Given the description of an element on the screen output the (x, y) to click on. 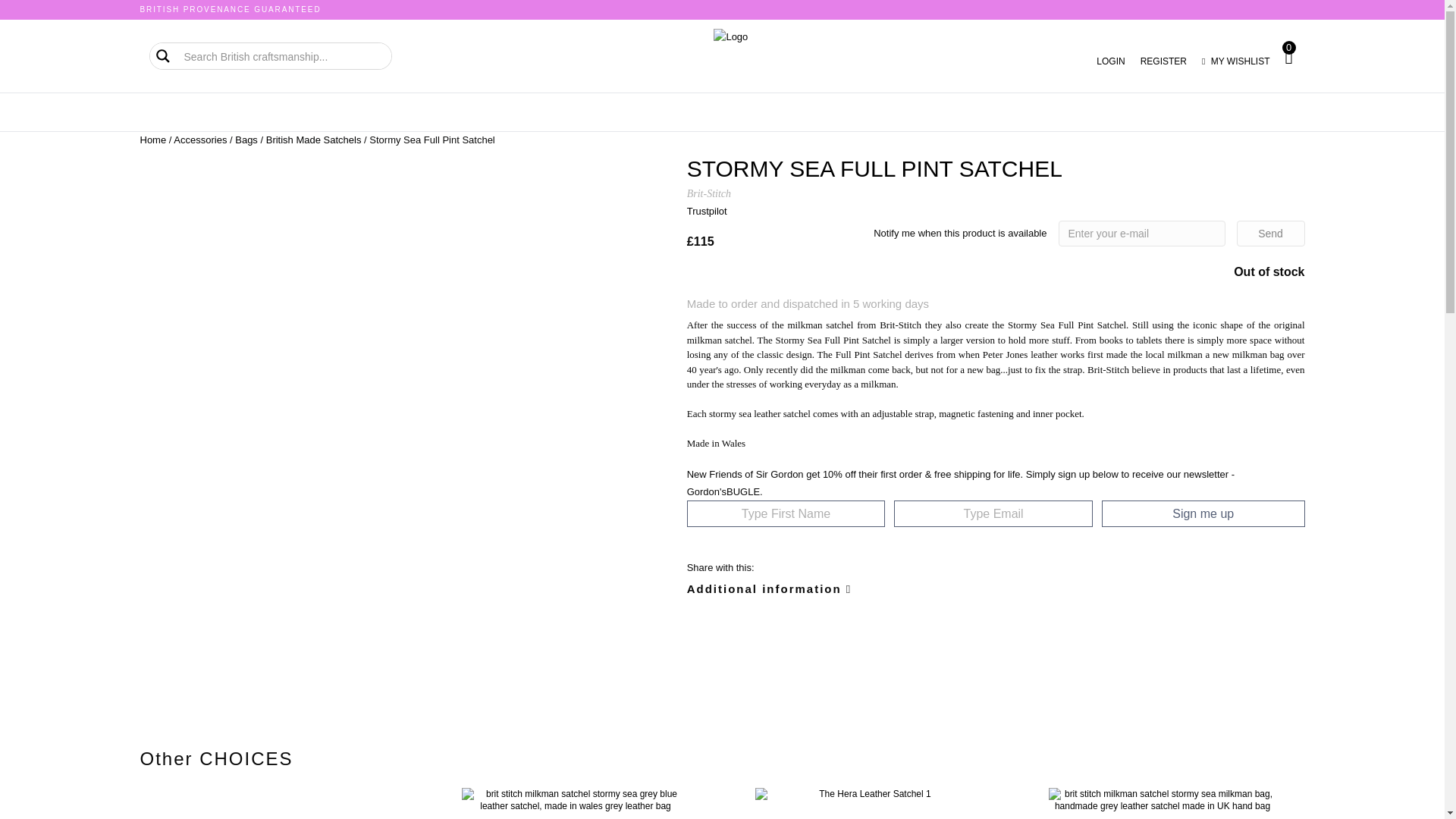
Bags (245, 139)
Sign me up (1203, 513)
LOGIN (1110, 61)
British Made Satchels (313, 139)
Home (152, 139)
Send (1270, 233)
REGISTER (1163, 61)
MY WISHLIST (1235, 61)
Accessories (200, 139)
Trustpilot (706, 211)
Brit-Stitch (708, 193)
